Given the description of an element on the screen output the (x, y) to click on. 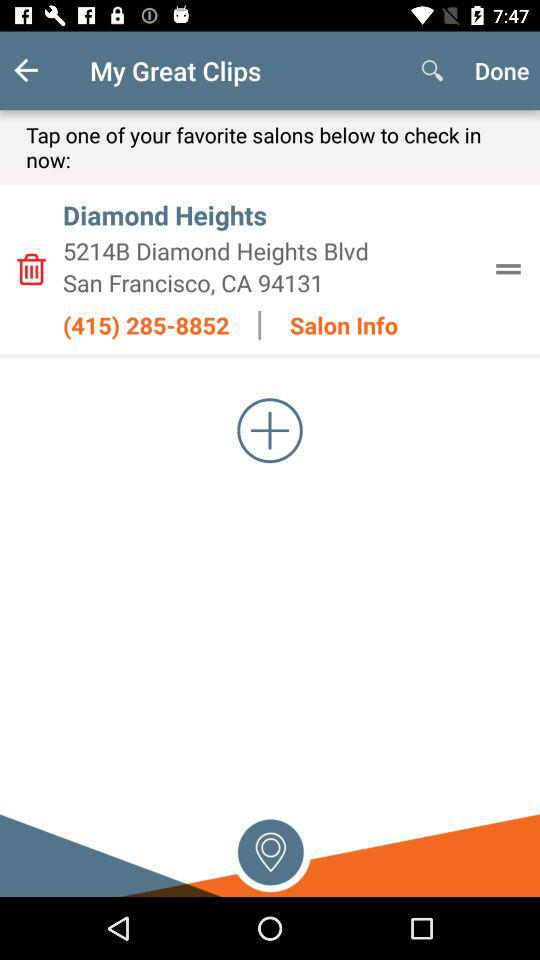
open the item above the tap one of icon (42, 70)
